Given the description of an element on the screen output the (x, y) to click on. 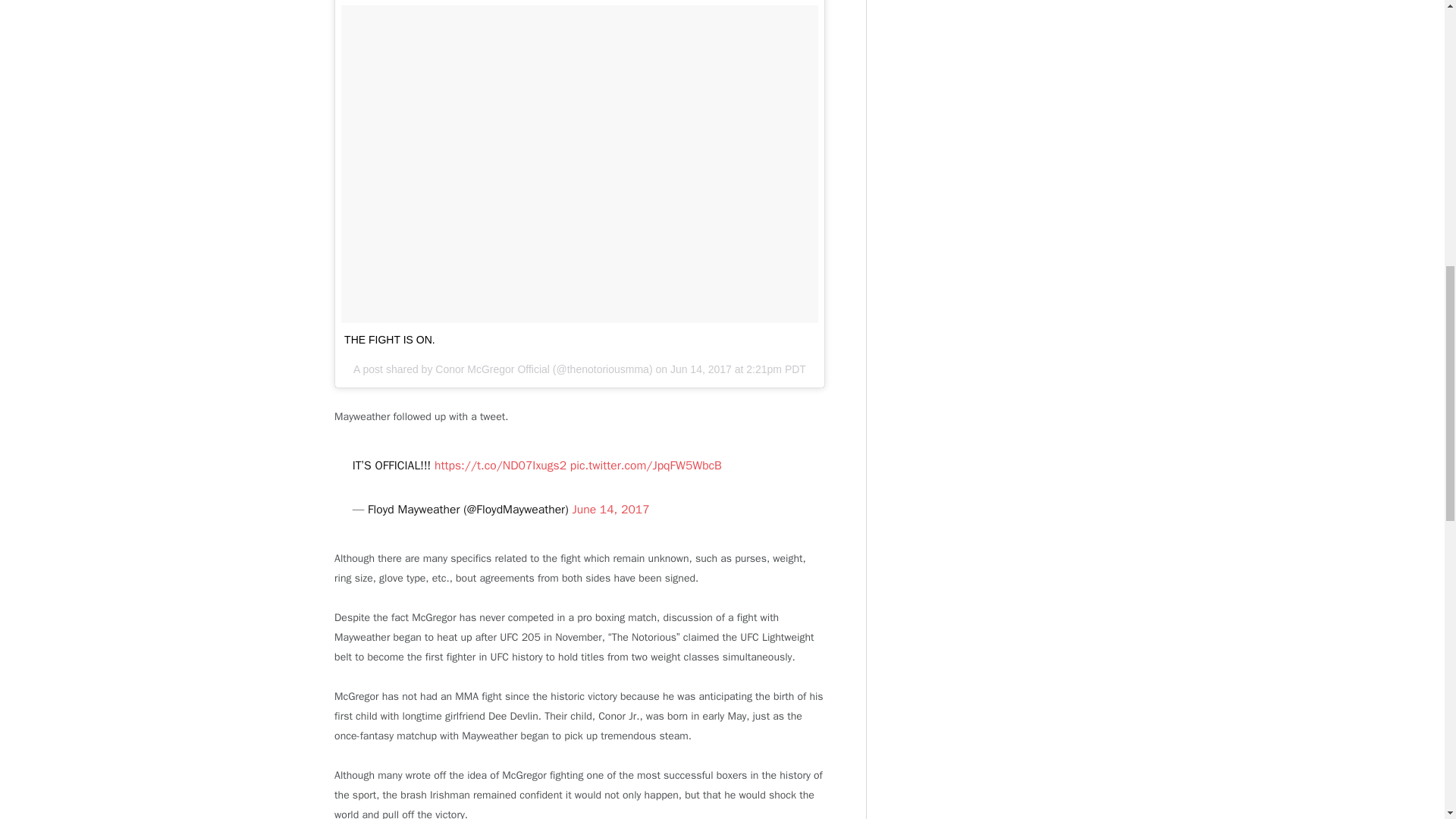
THE FIGHT IS ON. (389, 339)
June 14, 2017 (610, 509)
